Given the description of an element on the screen output the (x, y) to click on. 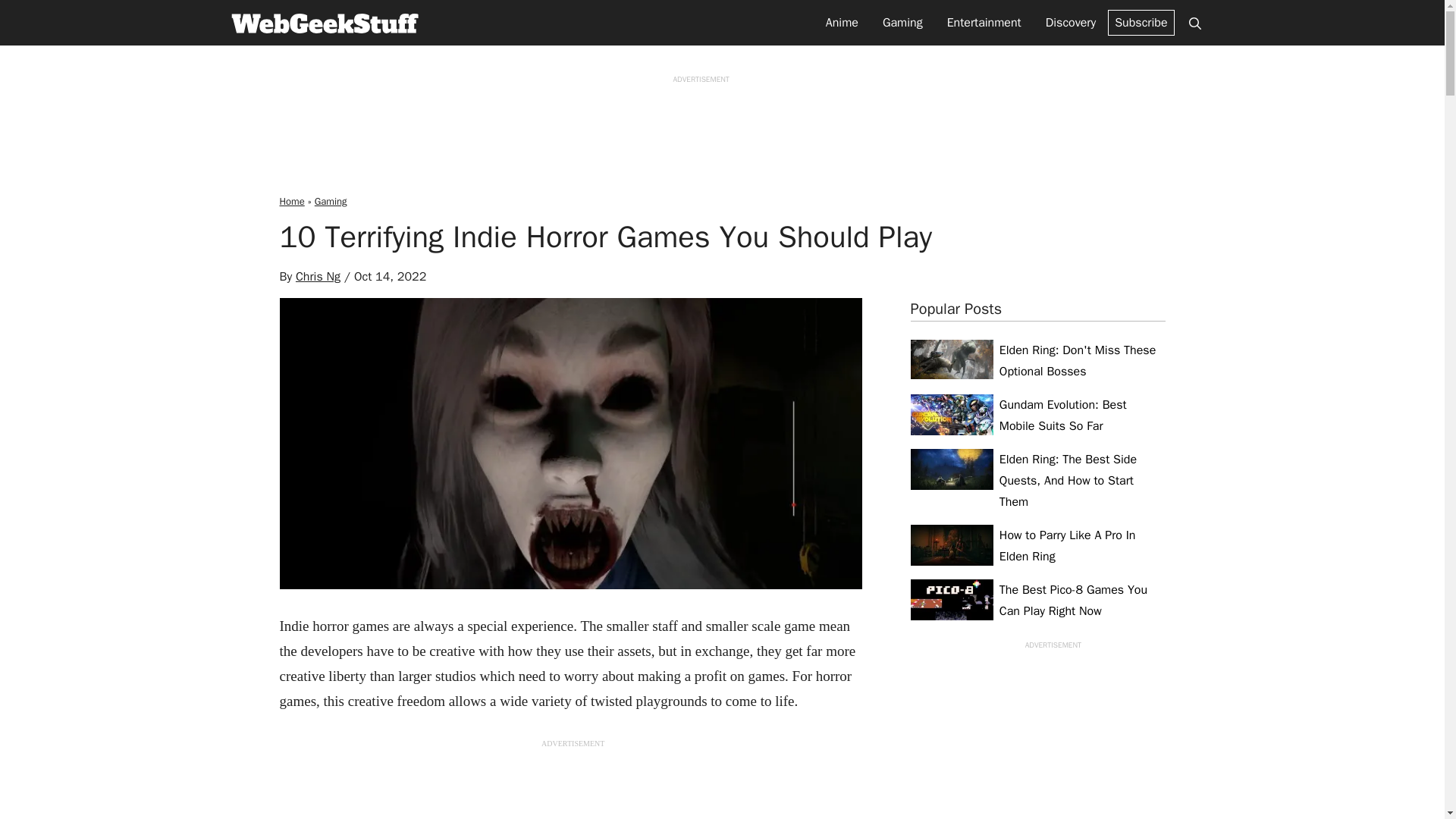
Chris Ng (317, 275)
Home (291, 201)
Advertisement (721, 124)
Subscribe (1140, 22)
Entertainment (983, 22)
Discovery (1070, 22)
Subscribe (1140, 22)
Gaming (330, 201)
Entertainment (983, 22)
Advertisement (1037, 737)
